Given the description of an element on the screen output the (x, y) to click on. 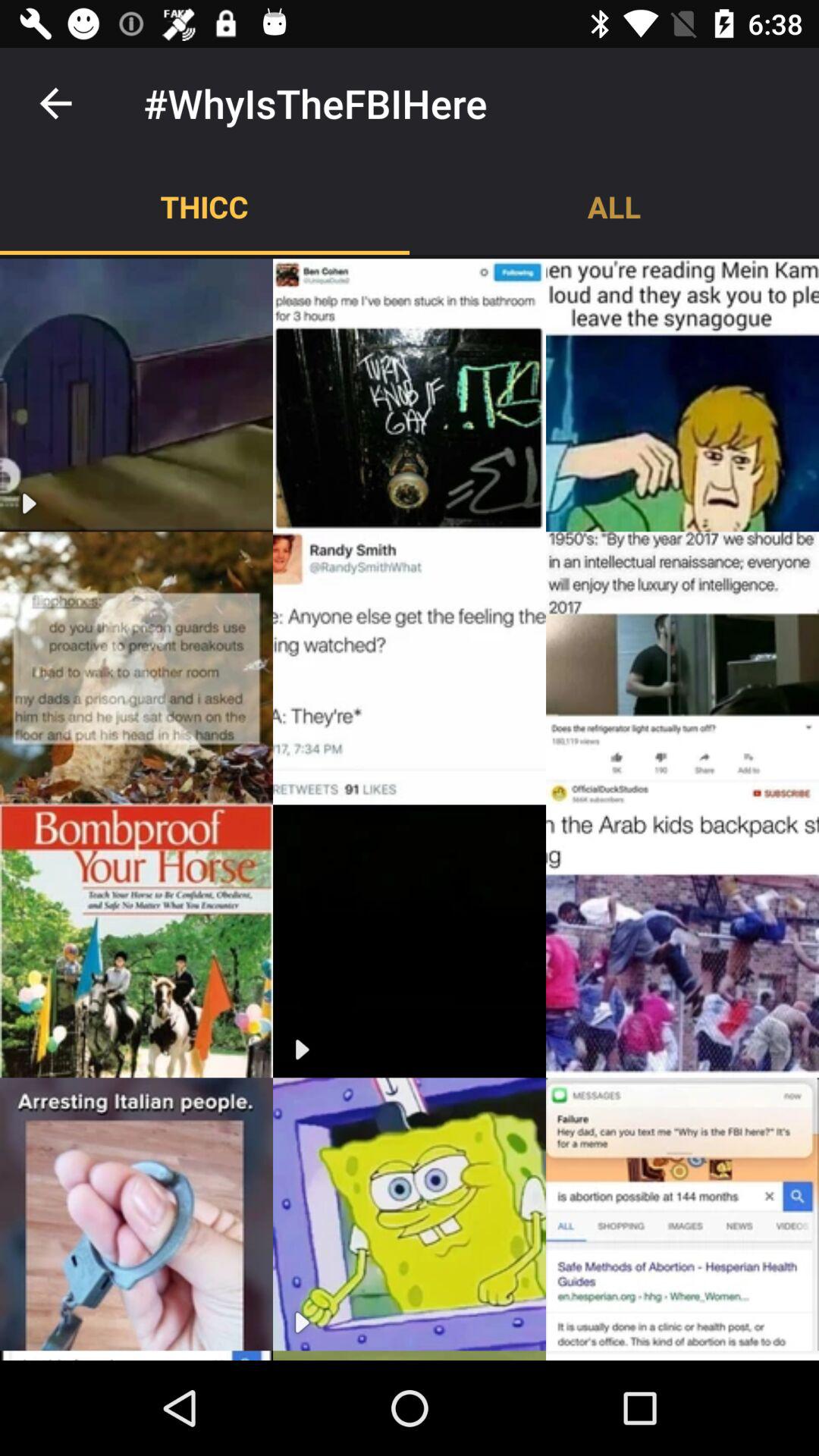
click item to the left of #whyisthefbihere (55, 103)
